Given the description of an element on the screen output the (x, y) to click on. 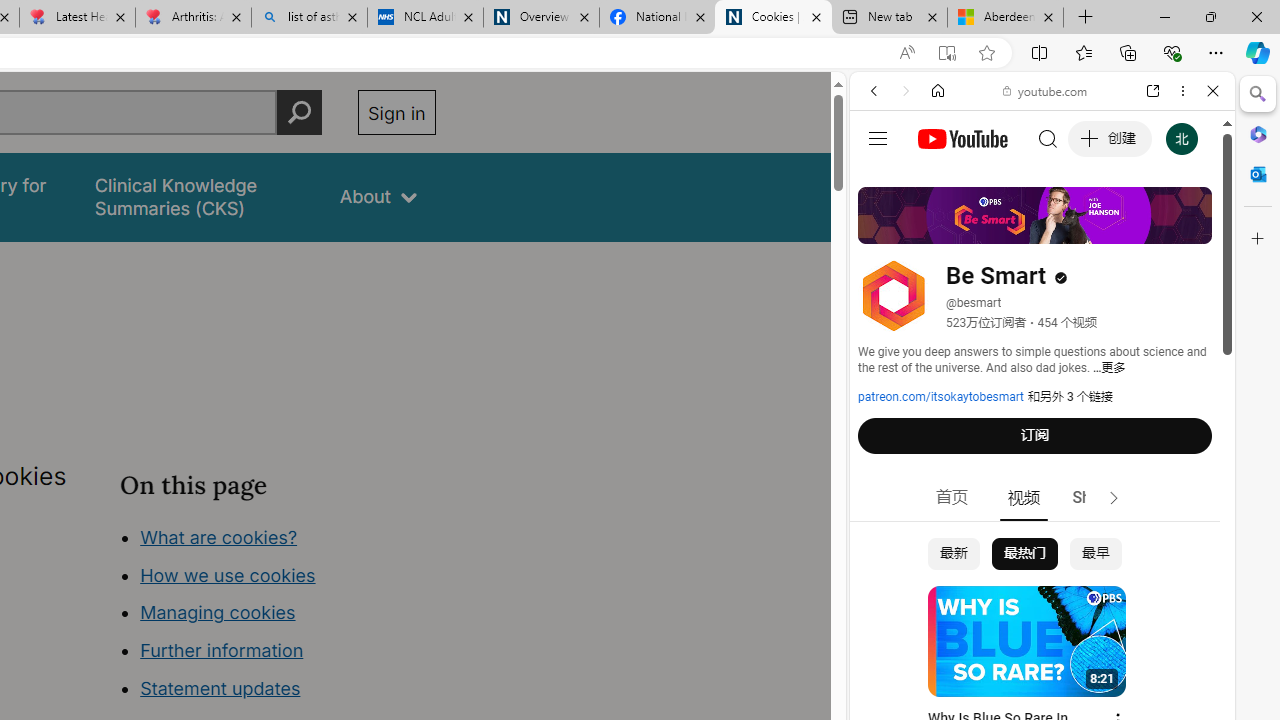
Statement updates (219, 688)
Search videos from youtube.com (1005, 657)
Managing cookies (217, 612)
Trailer #2 [HD] (1042, 594)
How we use cookies (227, 574)
